Given the description of an element on the screen output the (x, y) to click on. 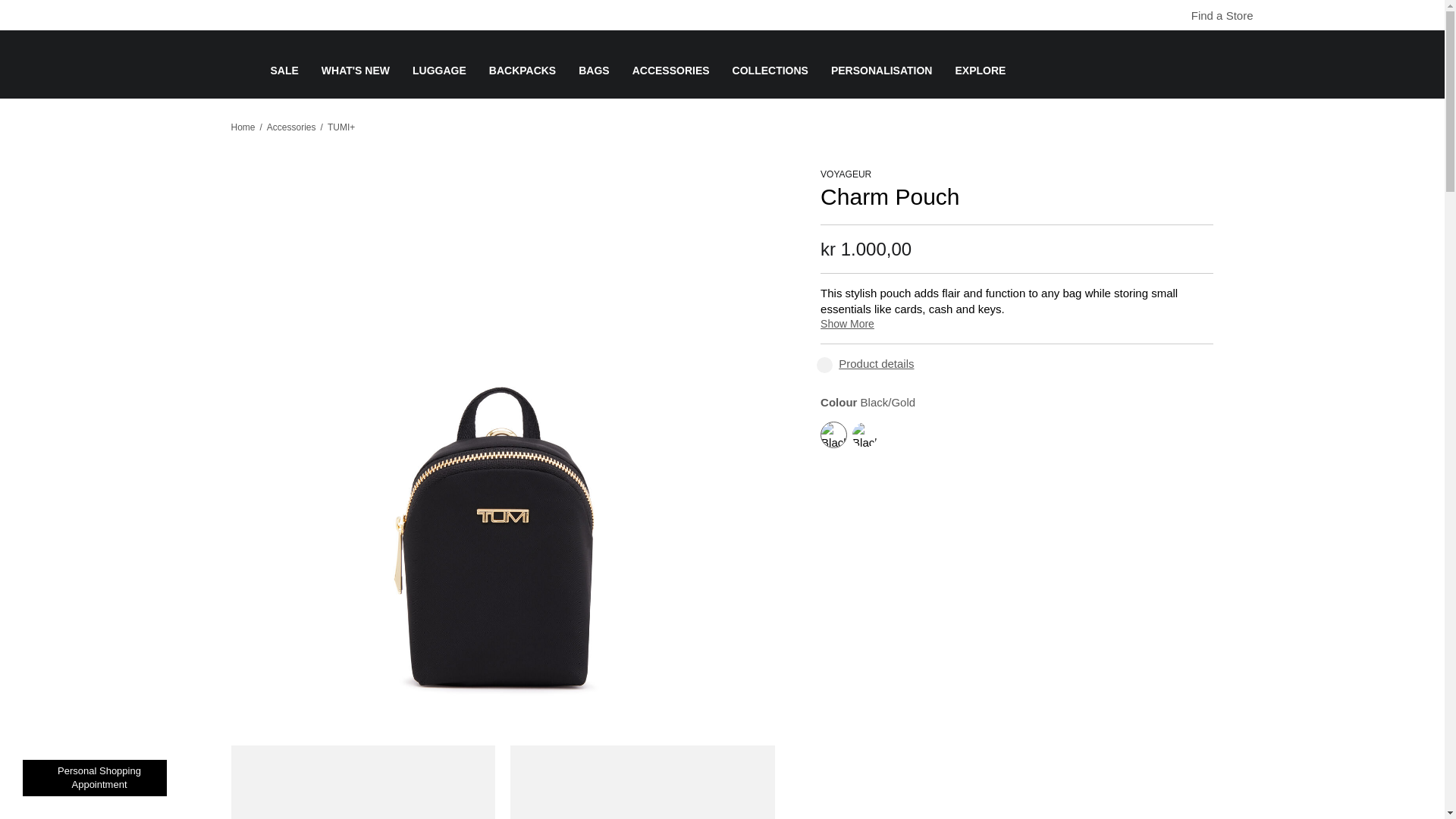
WHAT'S NEW (355, 81)
BACKPACKS (522, 81)
LUGGAGE (438, 81)
Find a Store (1181, 15)
Find a Store (1213, 15)
